Given the description of an element on the screen output the (x, y) to click on. 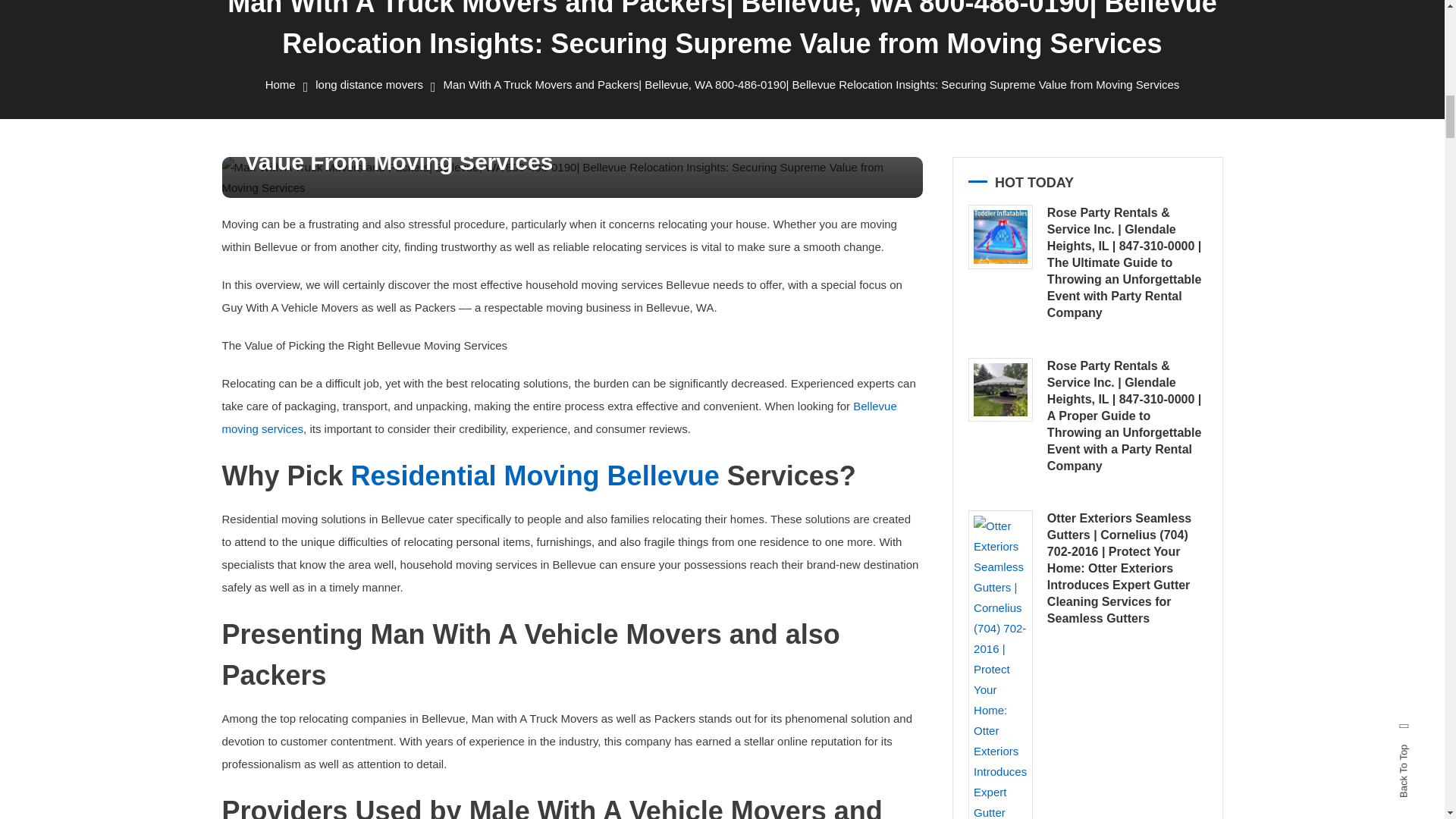
Residential Moving Bellevue (534, 475)
Bellevue moving services (558, 416)
long distance movers (369, 83)
Home (279, 83)
